Given the description of an element on the screen output the (x, y) to click on. 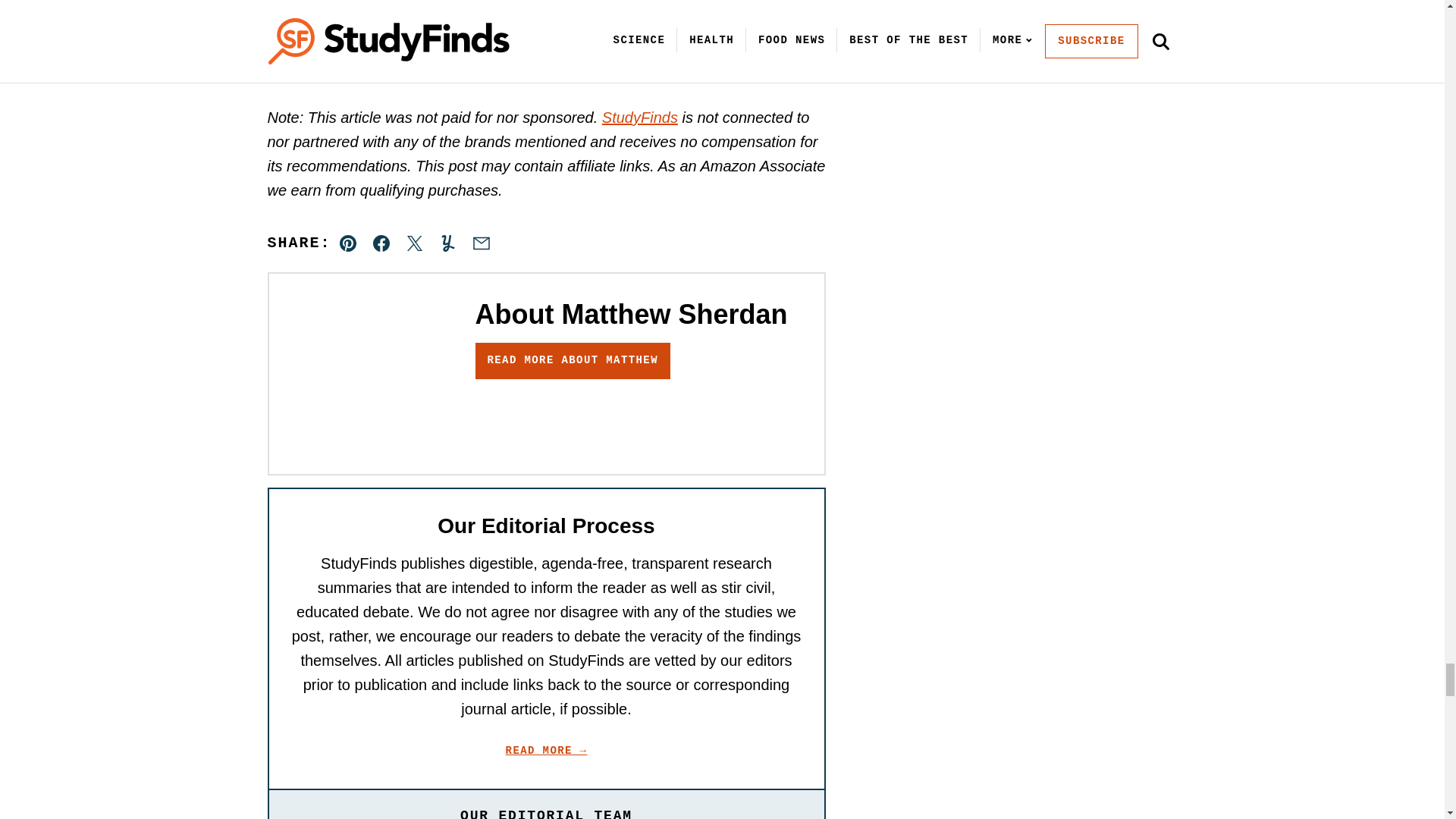
Share via Email (480, 243)
Share on Pinterest (348, 243)
Share on Yummly (447, 243)
Share on Facebook (381, 243)
Share on Twitter (413, 243)
